Given the description of an element on the screen output the (x, y) to click on. 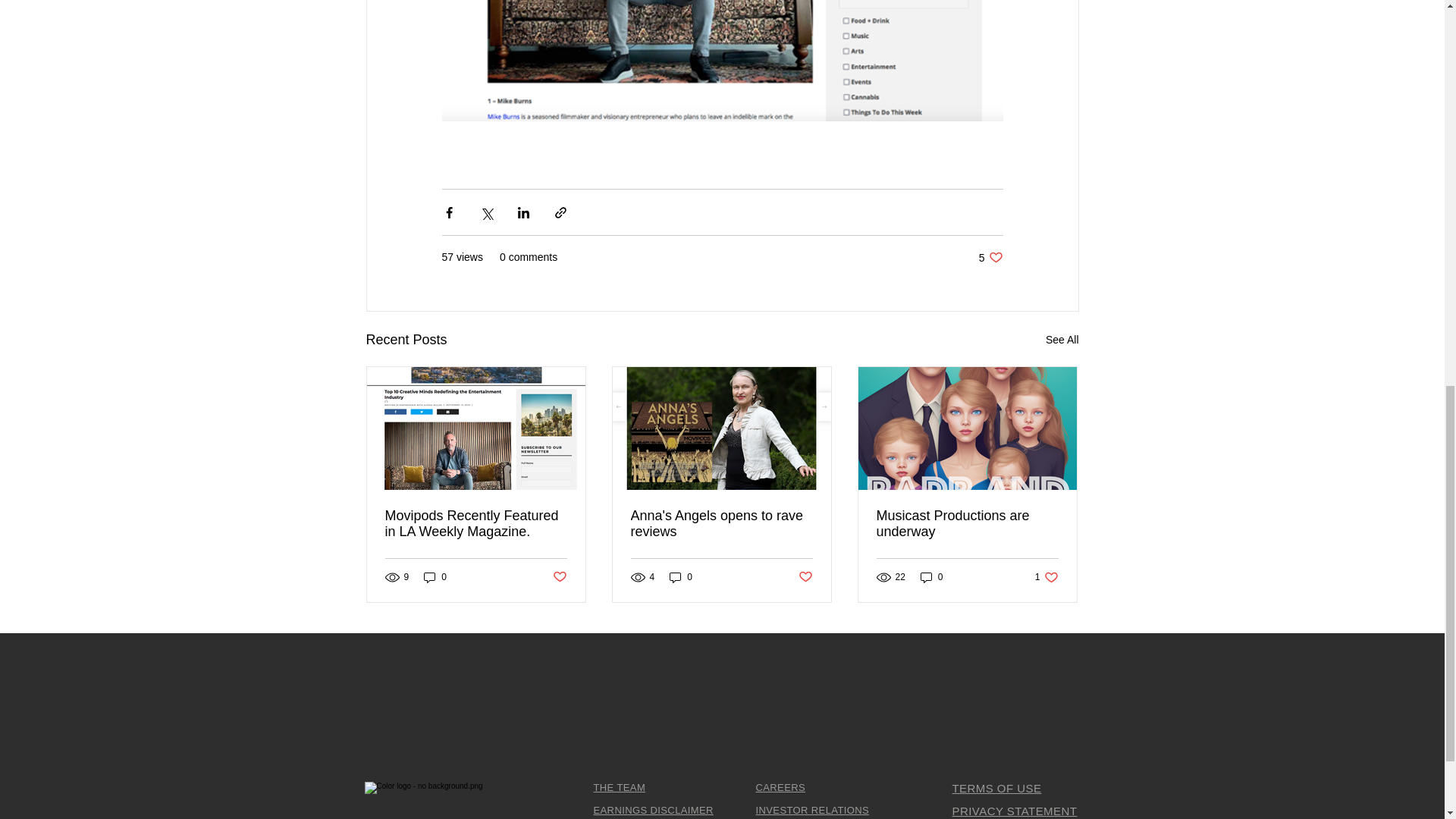
0 (931, 577)
Anna's Angels opens to rave reviews (721, 523)
Post not marked as liked (558, 577)
EARNINGS DISCLAIMER (652, 809)
See All (1061, 340)
CAREERS (780, 787)
Musicast Productions are underway (967, 523)
THE TEAM (618, 787)
0 (681, 577)
TERMS OF USE (997, 788)
Post not marked as liked (804, 577)
INVESTOR RELATIONS (812, 809)
Movipods Recently Featured in LA Weekly Magazine. (1046, 577)
